Given the description of an element on the screen output the (x, y) to click on. 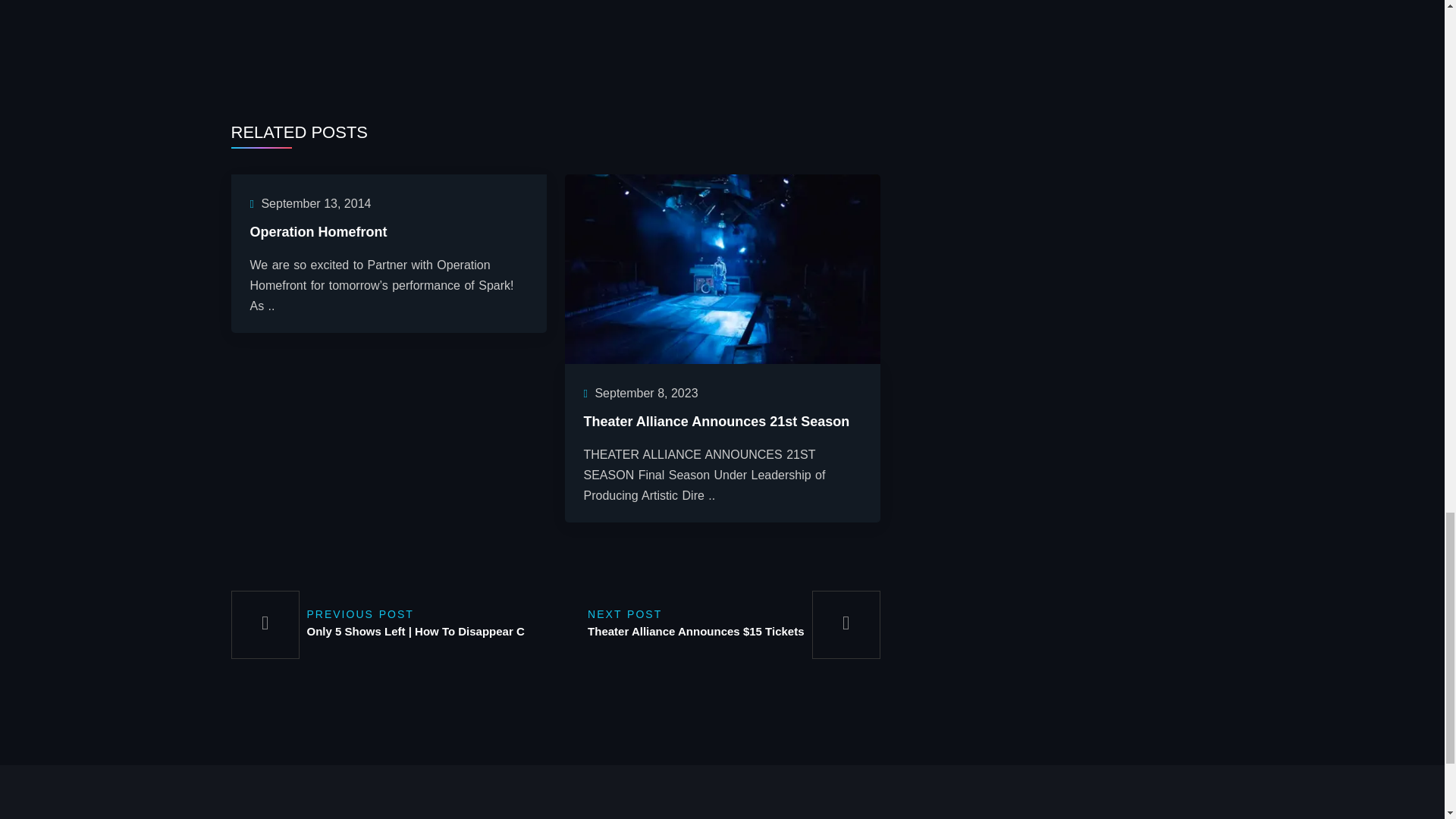
Theater Alliance Announces 21st Season (721, 267)
Hum (555, 41)
